Given the description of an element on the screen output the (x, y) to click on. 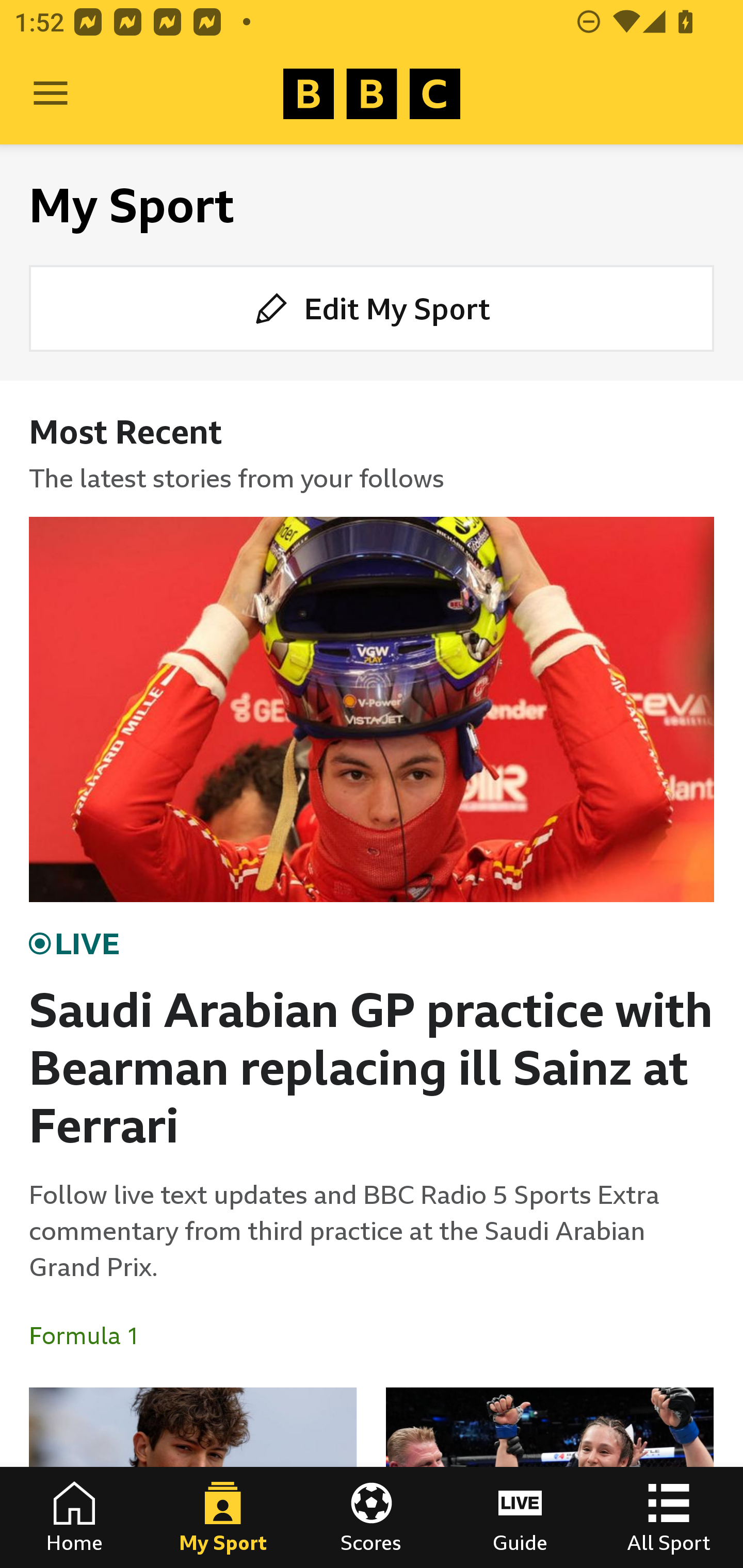
Open Menu (50, 93)
Edit My Sport (371, 307)
Home (74, 1517)
Scores (371, 1517)
Guide (519, 1517)
All Sport (668, 1517)
